Given the description of an element on the screen output the (x, y) to click on. 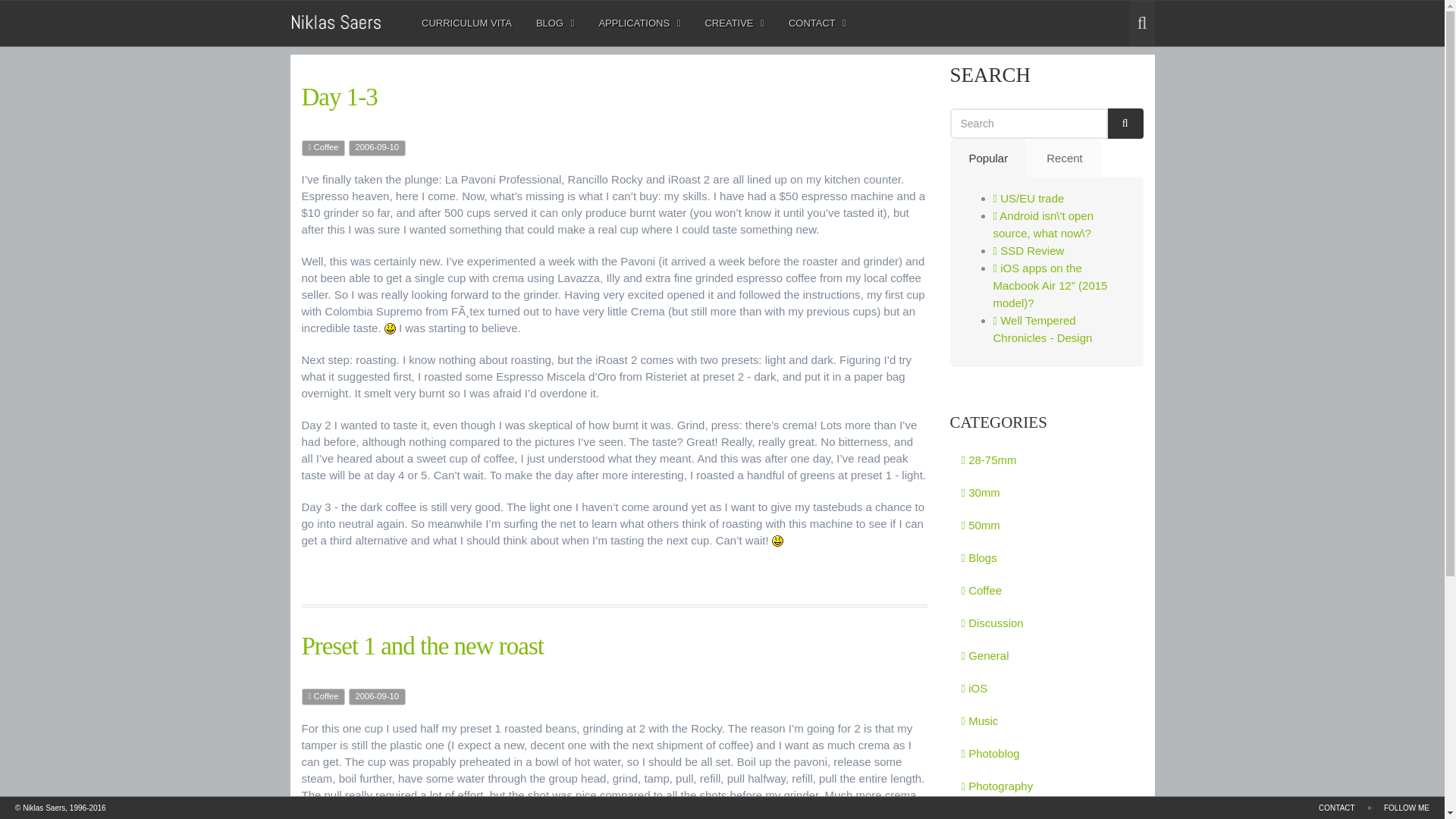
CURRICULUM VITA (466, 22)
CREATIVE (734, 22)
BLOG (634, 22)
APPLICATIONS (555, 22)
